Given the description of an element on the screen output the (x, y) to click on. 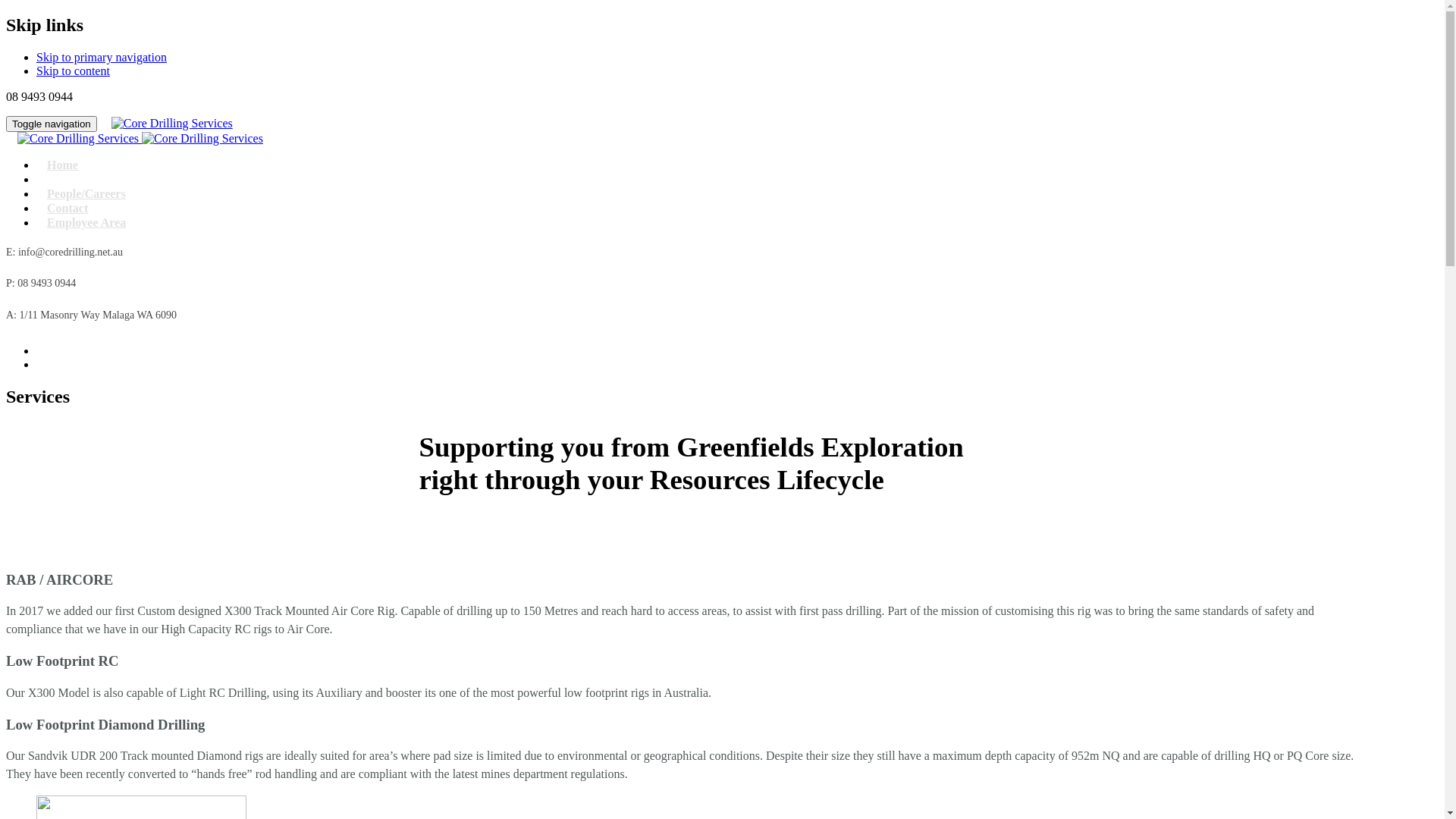
People/Careers Element type: text (86, 193)
Employee Area Element type: text (86, 222)
Services Element type: text (68, 178)
Skip to content Element type: text (72, 70)
Home Element type: text (62, 164)
Toggle navigation Element type: text (51, 123)
Skip to primary navigation Element type: text (101, 56)
Contact Element type: text (67, 207)
